Given the description of an element on the screen output the (x, y) to click on. 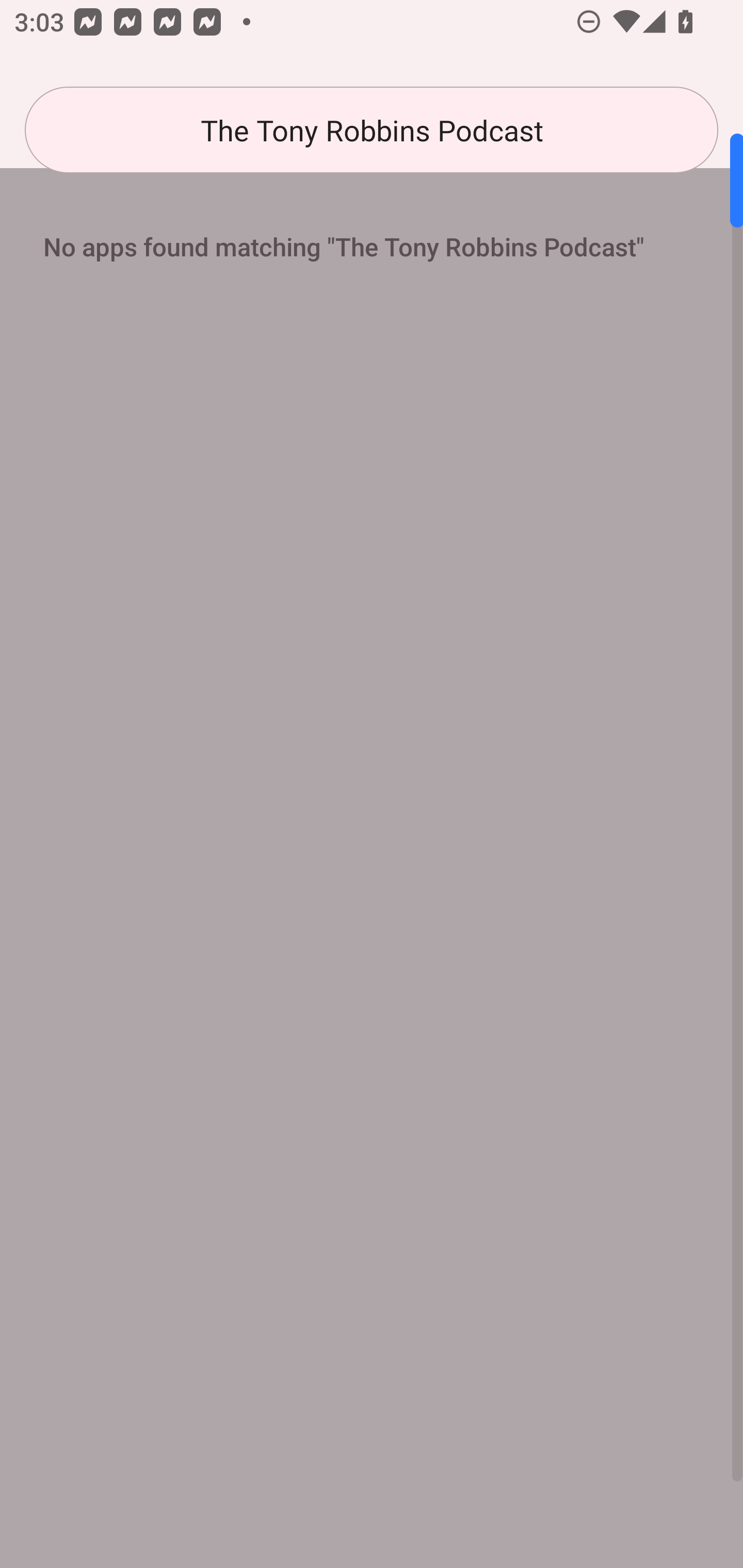
The Tony Robbins Podcast (371, 130)
